Given the description of an element on the screen output the (x, y) to click on. 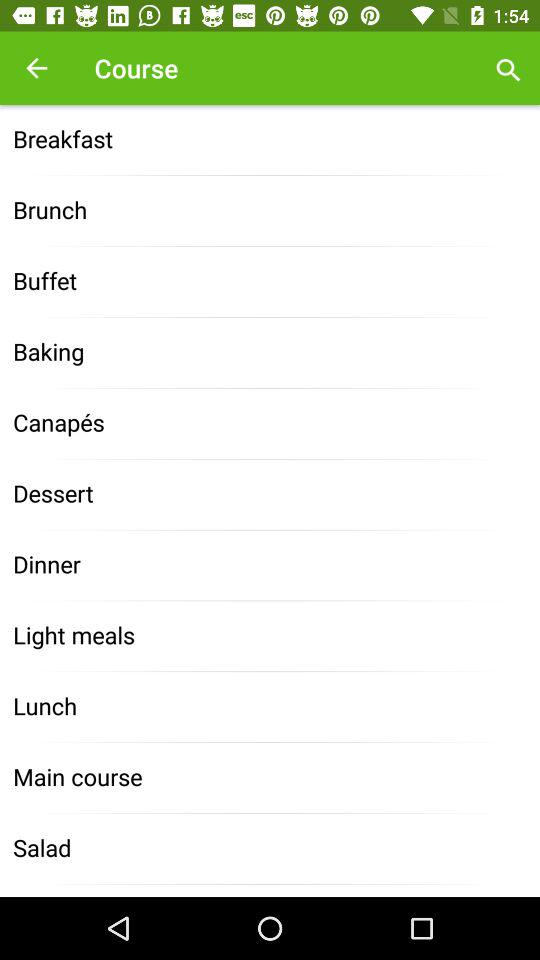
click sandwich icon (270, 890)
